Given the description of an element on the screen output the (x, y) to click on. 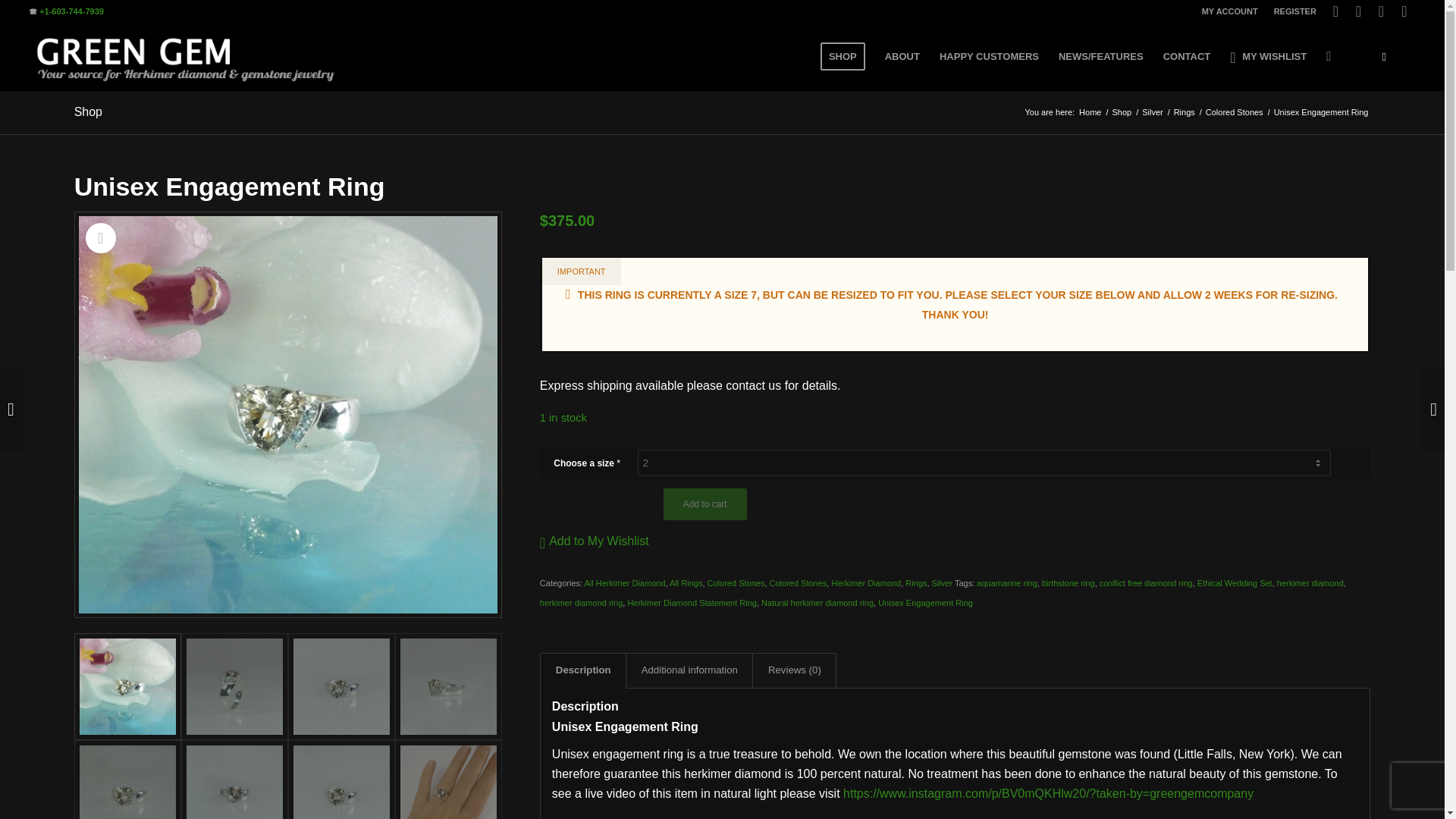
Home (1090, 112)
Colored Stones (1234, 112)
REGISTER (1295, 11)
MY ACCOUNT (1229, 11)
SHOP (842, 56)
Rings (1184, 112)
Silver (1153, 112)
Shop (1121, 112)
Facebook (1335, 11)
MY WISHLIST (1268, 56)
